Given the description of an element on the screen output the (x, y) to click on. 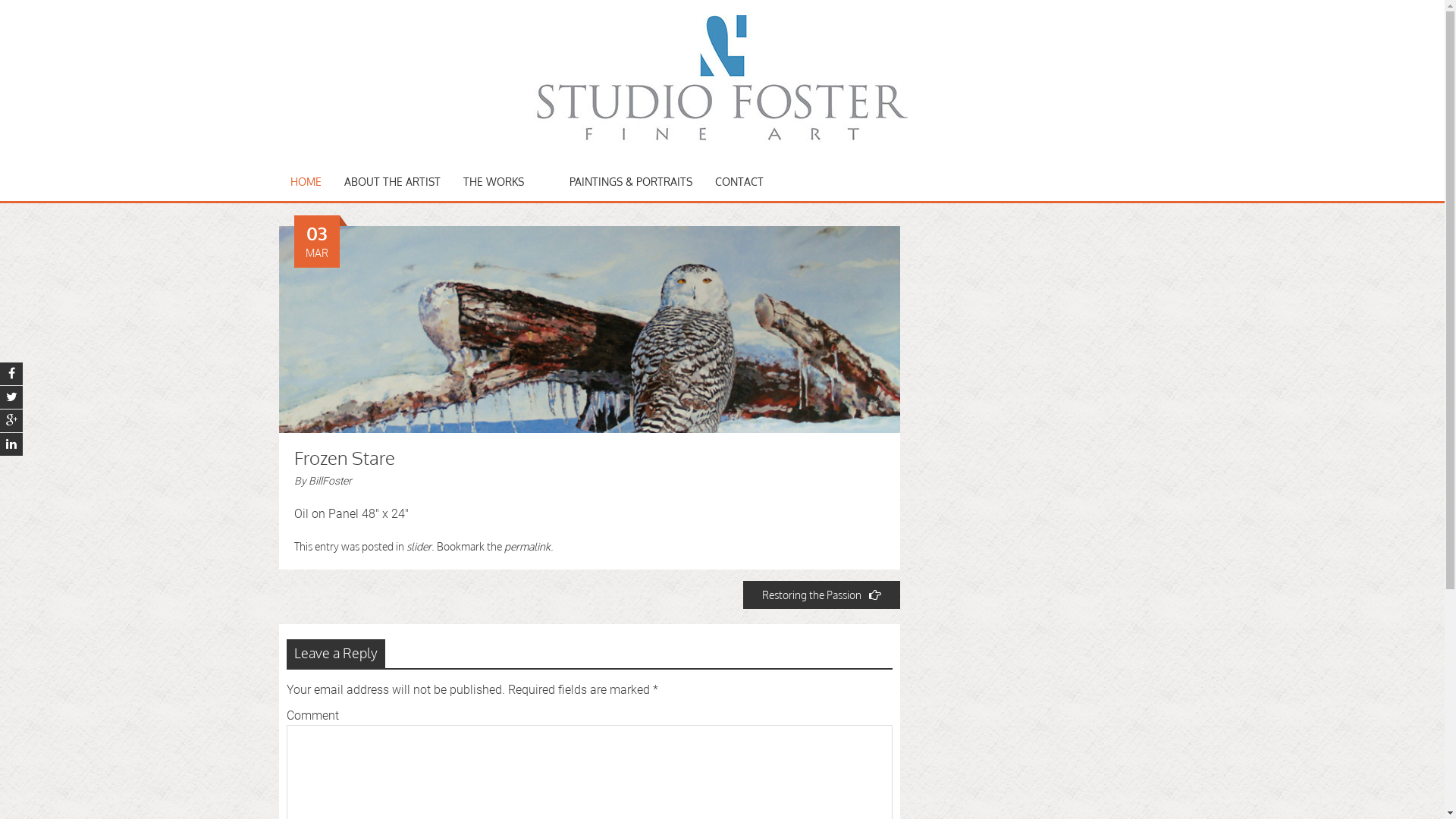
permalink Element type: text (526, 545)
Restoring the Passion Element type: text (821, 594)
PAINTINGS & PORTRAITS Element type: text (630, 181)
THE WORKS Element type: text (493, 181)
HOME Element type: text (305, 181)
BillFoster Element type: text (329, 480)
slider Element type: text (418, 545)
CONTACT Element type: text (739, 181)
ABOUT THE ARTIST Element type: text (391, 181)
